Given the description of an element on the screen output the (x, y) to click on. 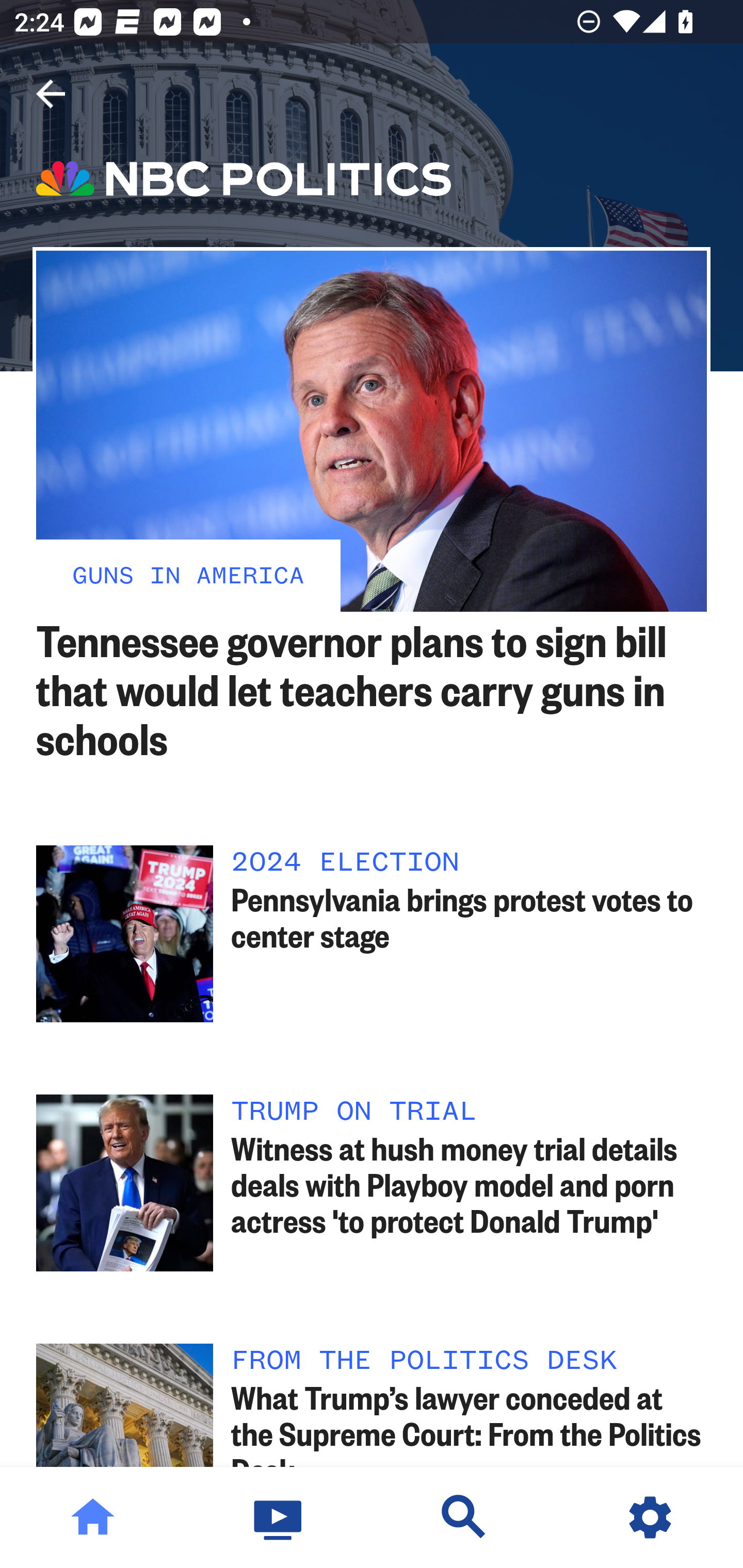
Navigate up (50, 93)
Watch (278, 1517)
Discover (464, 1517)
Settings (650, 1517)
